Given the description of an element on the screen output the (x, y) to click on. 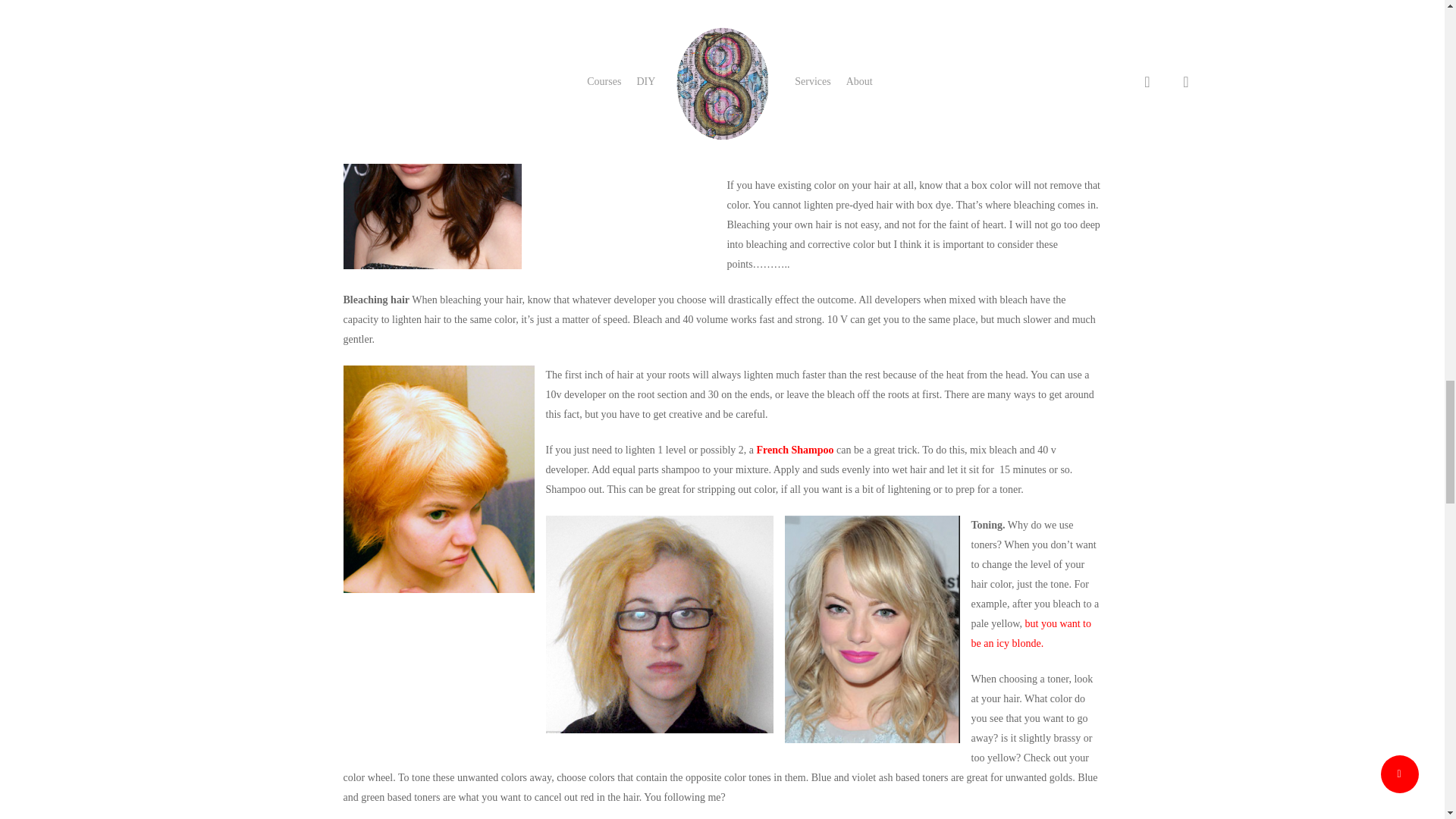
Single process bleaching, case study. (1030, 633)
